Given the description of an element on the screen output the (x, y) to click on. 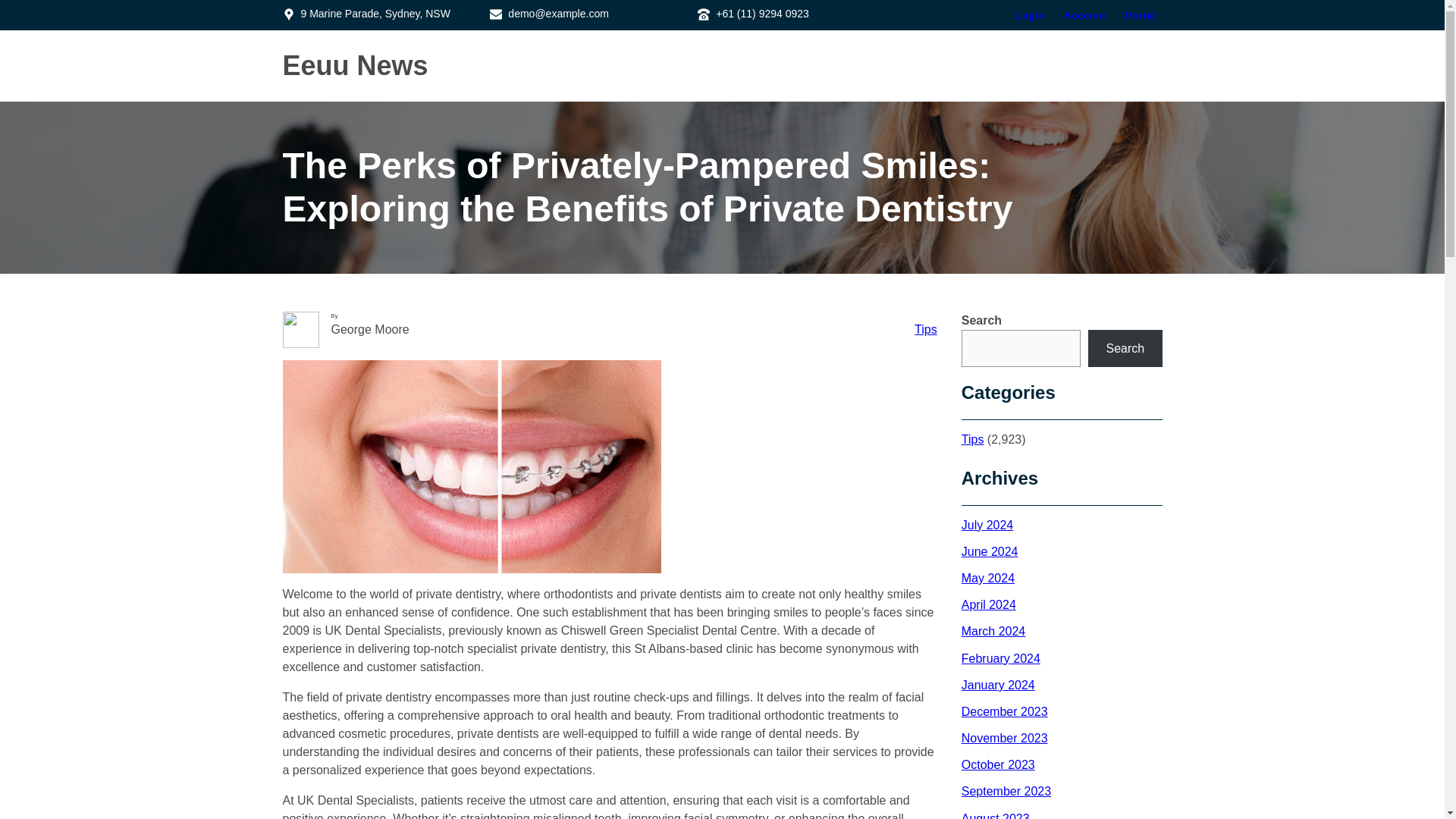
June 2024 (988, 551)
April 2024 (988, 604)
Tips (925, 328)
March 2024 (993, 631)
November 2023 (1004, 738)
September 2023 (1005, 790)
January 2024 (997, 684)
July 2024 (986, 524)
February 2024 (1000, 658)
Login (1030, 15)
August 2023 (994, 815)
Portal (1140, 15)
October 2023 (997, 764)
Eeuu News (355, 65)
Account (1085, 15)
